Given the description of an element on the screen output the (x, y) to click on. 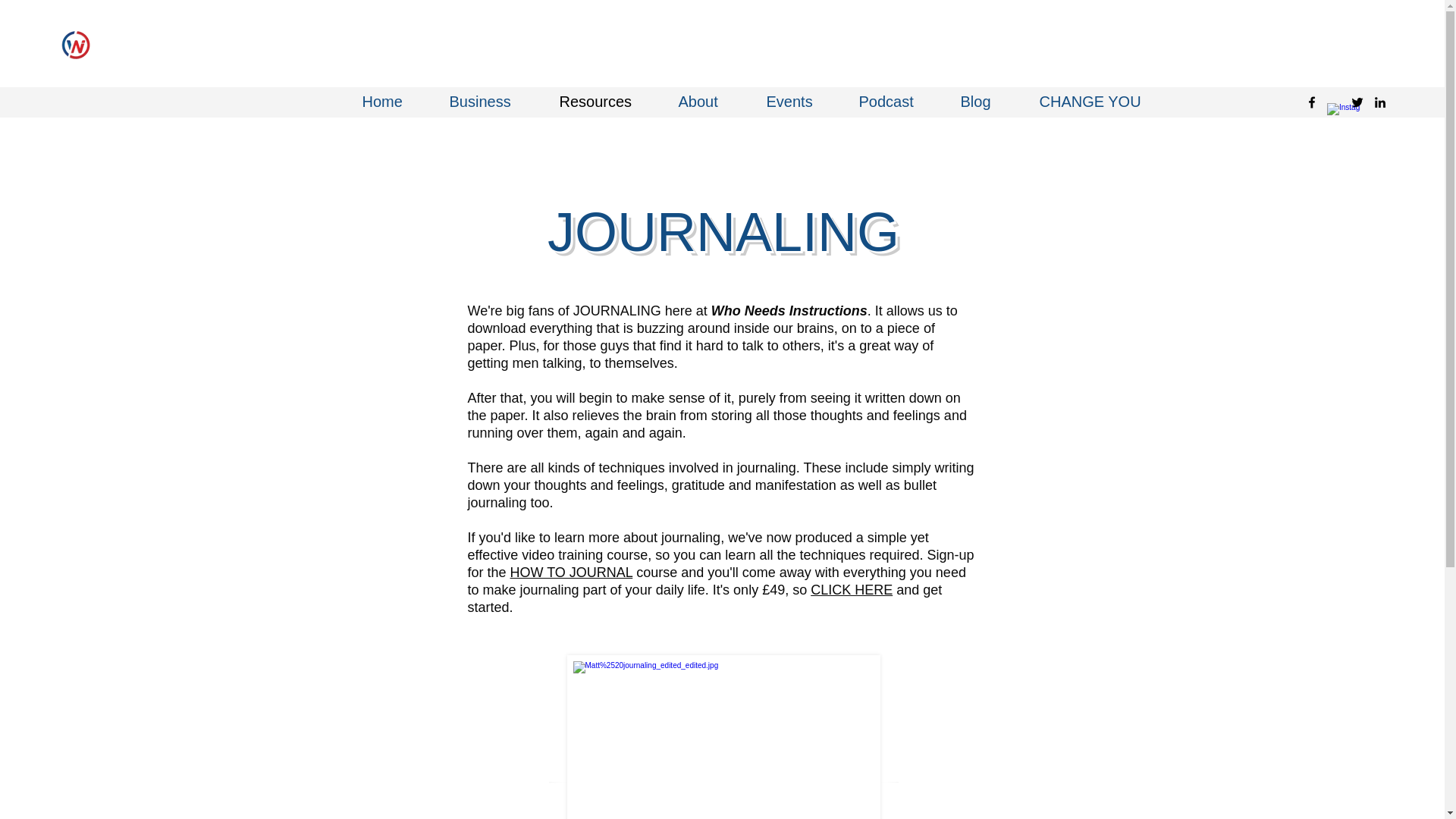
CLICK HERE (851, 589)
Home (394, 101)
Business (493, 101)
Events (801, 101)
CHANGE YOU (1087, 101)
About (710, 101)
Resources (606, 101)
Blog (988, 101)
HOW TO JOURNAL (572, 572)
Podcast (898, 101)
